Given the description of an element on the screen output the (x, y) to click on. 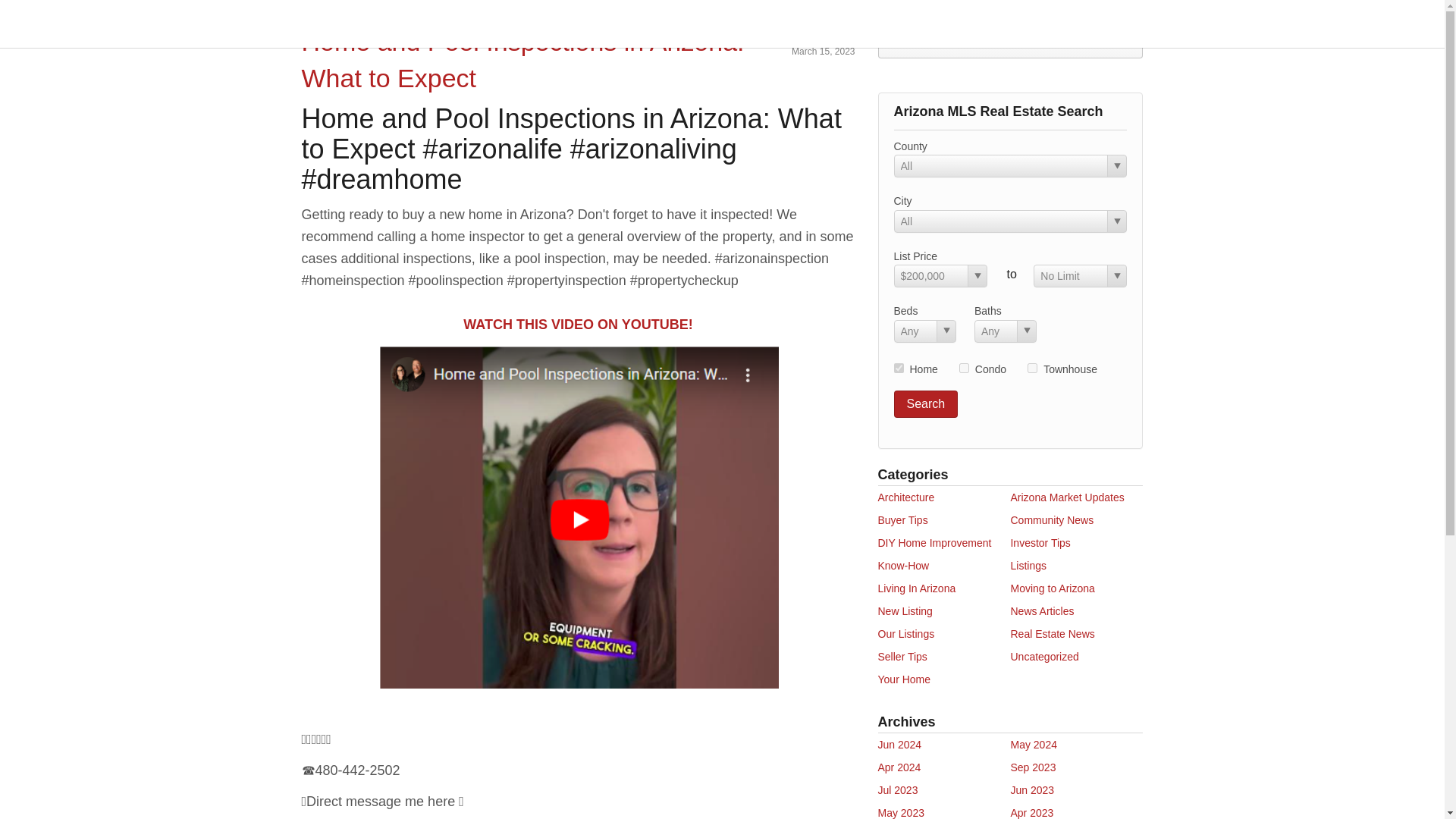
Investor Tips (1040, 542)
News Articles (1042, 611)
Our Listings (905, 633)
Know-How (903, 565)
res (897, 368)
Living In Arizona (916, 588)
Home and Pool Inspections in Arizona: What to Expect (522, 59)
Arizona Market Updates (1067, 497)
Moving to Arizona (1052, 588)
con (964, 368)
